Given the description of an element on the screen output the (x, y) to click on. 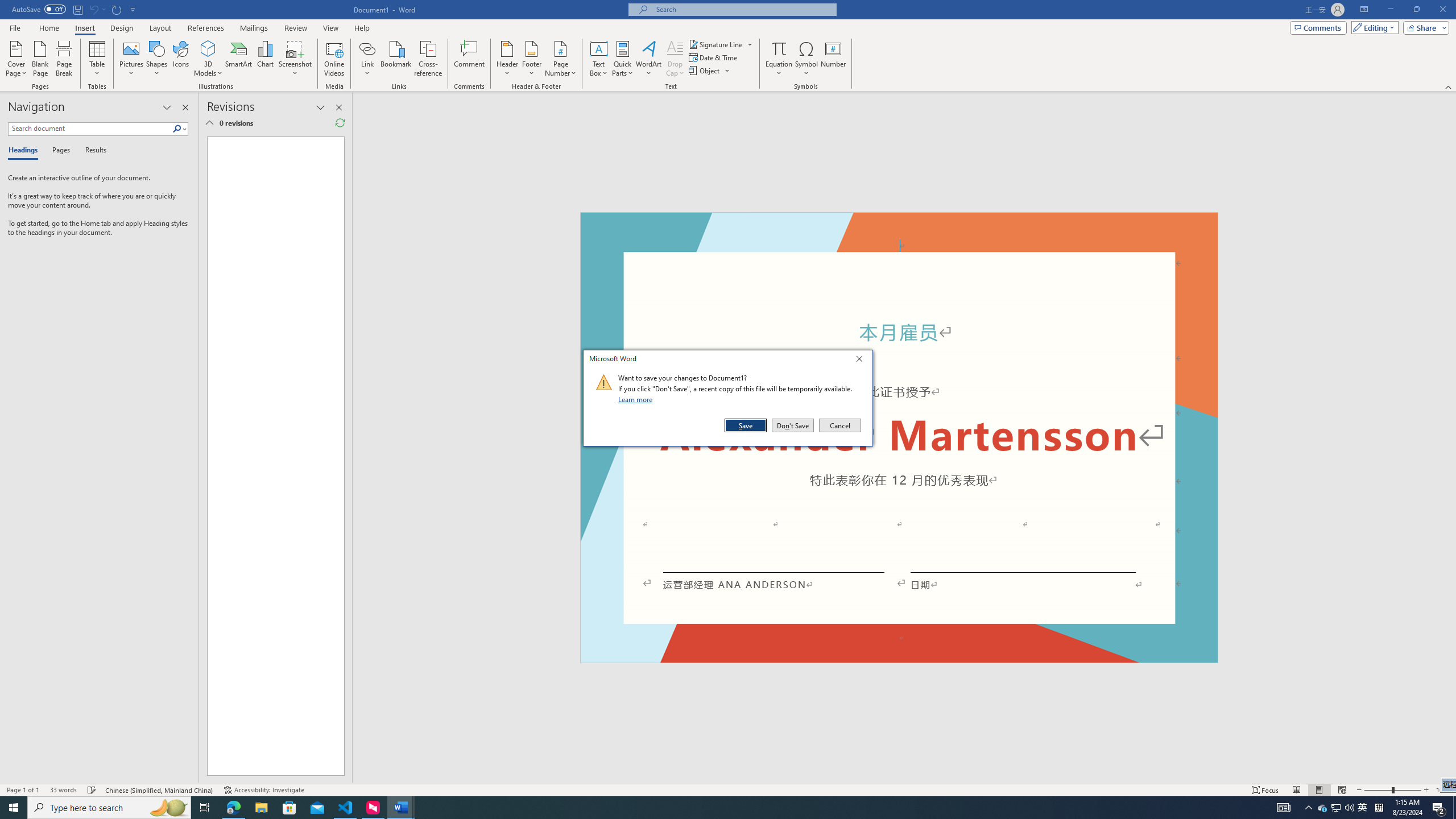
Footer (531, 58)
Icons (180, 58)
Pictures (131, 58)
Learn more (636, 399)
Can't Undo (92, 9)
